Given the description of an element on the screen output the (x, y) to click on. 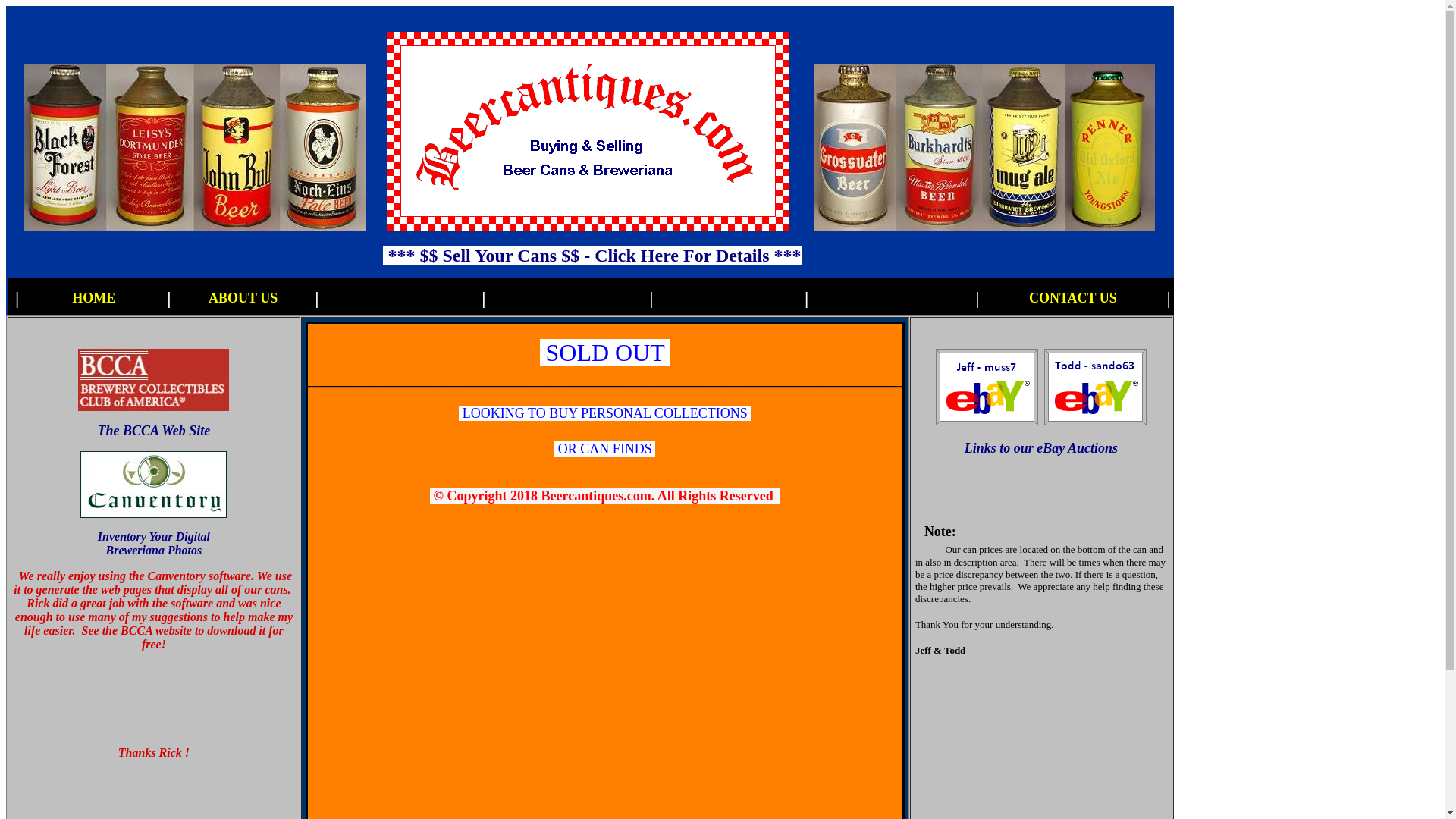
ABOUT US (243, 297)
HOME (93, 297)
CONTACT US (1072, 297)
